Given the description of an element on the screen output the (x, y) to click on. 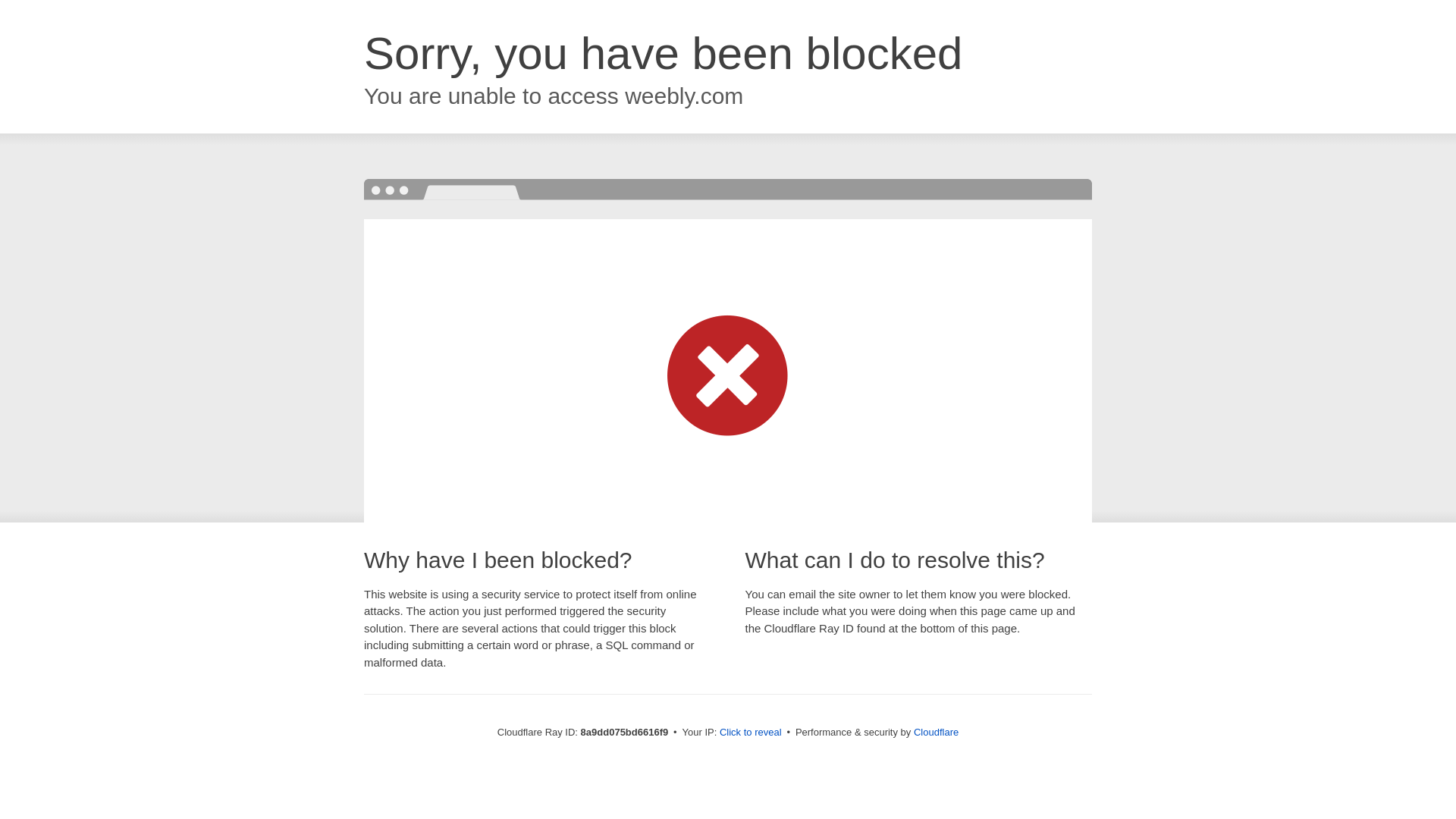
Click to reveal (750, 732)
Cloudflare (936, 731)
